Given the description of an element on the screen output the (x, y) to click on. 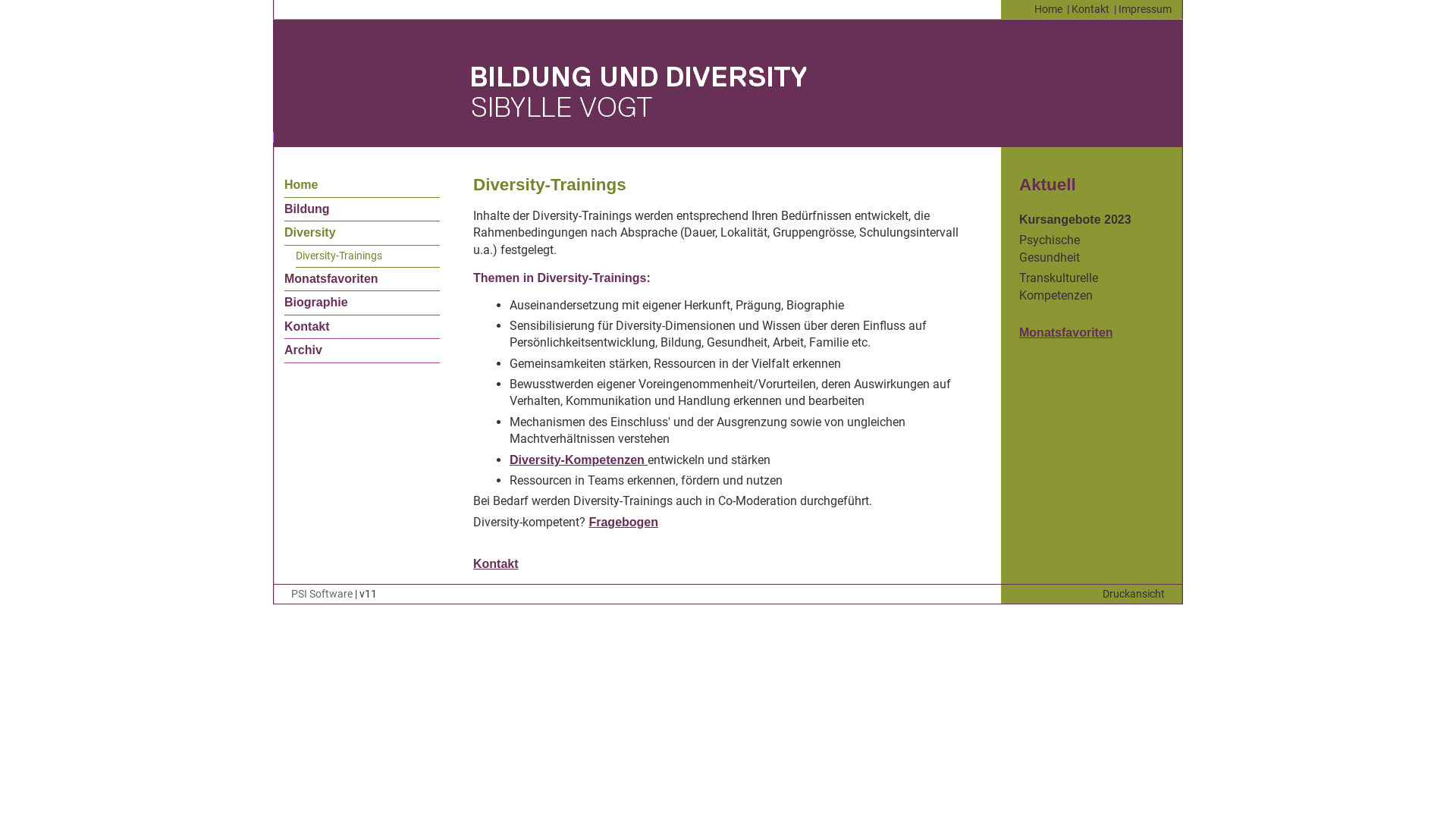
Biographie Element type: text (316, 301)
Diversity Element type: text (309, 231)
Monatsfavoriten Element type: text (331, 278)
Archiv Element type: text (303, 349)
Fragebogen Element type: text (623, 521)
Home Element type: text (1048, 9)
Kontakt Element type: text (495, 563)
Diversity-Trainings Element type: text (338, 255)
Bildung Element type: text (306, 208)
Kontakt Element type: text (306, 326)
Impressum Element type: text (1144, 9)
Diversity-Kompetenzen Element type: text (578, 459)
Monatsfavoriten Element type: text (1066, 332)
Kontakt Element type: text (1090, 9)
PSI Software Element type: text (321, 593)
Home Element type: text (300, 184)
Druckansicht Element type: text (1133, 593)
